Given the description of an element on the screen output the (x, y) to click on. 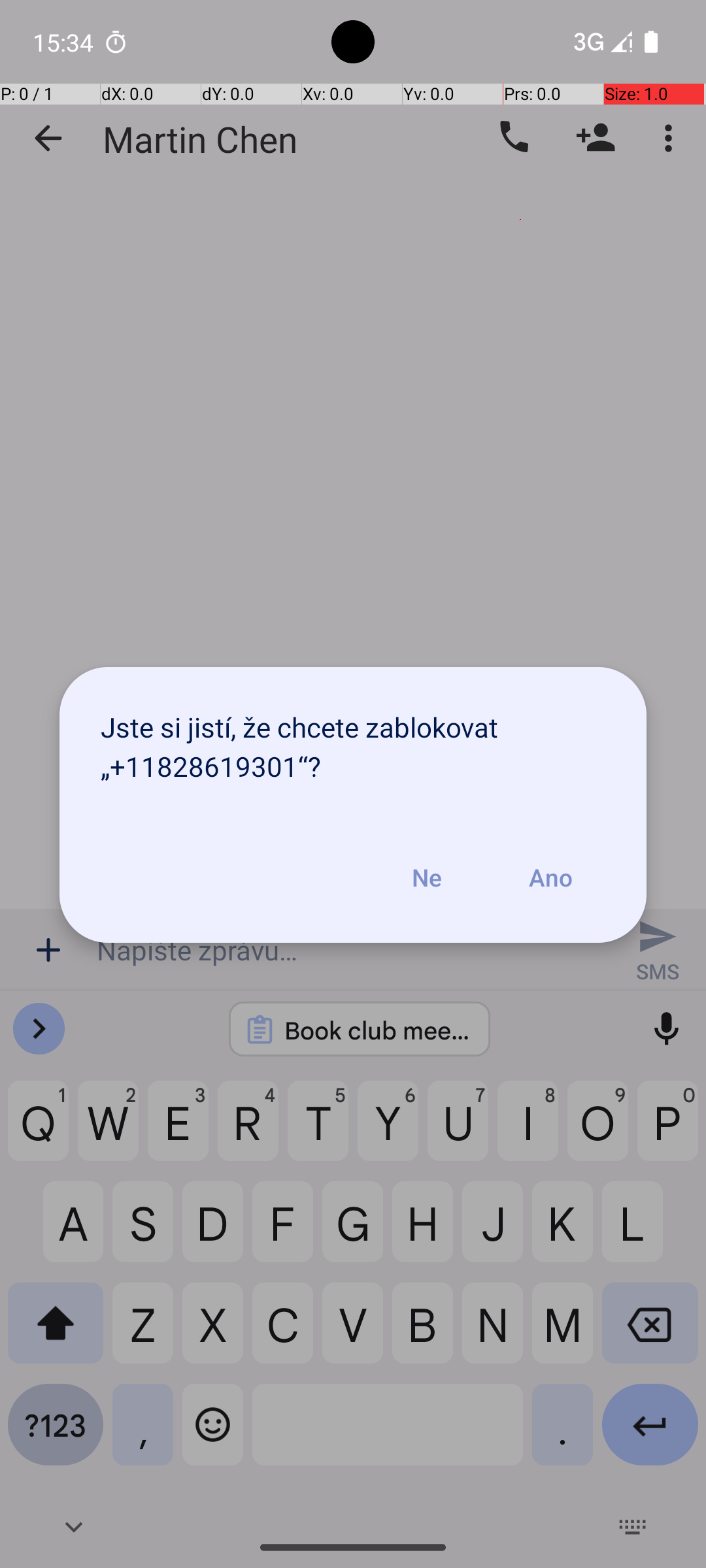
Jste si jistí, že chcete zablokovat „+11828619301“? Element type: android.widget.TextView (352, 739)
Ne Element type: android.widget.Button (426, 877)
Ano Element type: android.widget.Button (550, 877)
